Given the description of an element on the screen output the (x, y) to click on. 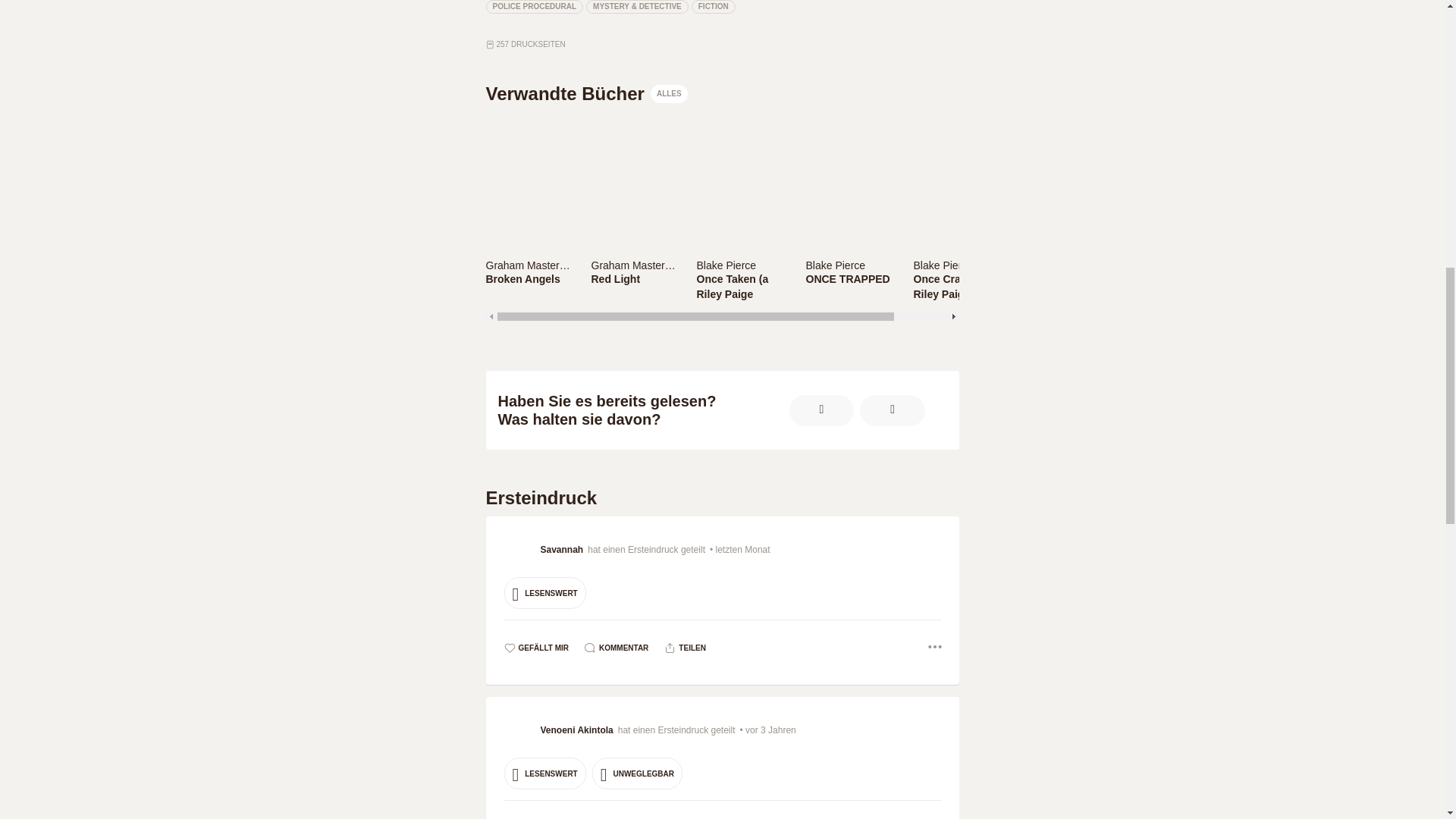
Blake Pierce (740, 264)
Red Light (634, 278)
Graham Masterton (635, 265)
FICTION (713, 6)
Broken Angels (528, 278)
Red Light (634, 278)
Blake Pierce (942, 265)
Blake Pierce (849, 264)
POLICE PROCEDURAL (533, 6)
Graham Masterton (634, 264)
Graham Masterton (528, 264)
Graham Masterton (528, 265)
Blake Pierce (834, 265)
Broken Angels (528, 278)
Blake Pierce (958, 264)
